Given the description of an element on the screen output the (x, y) to click on. 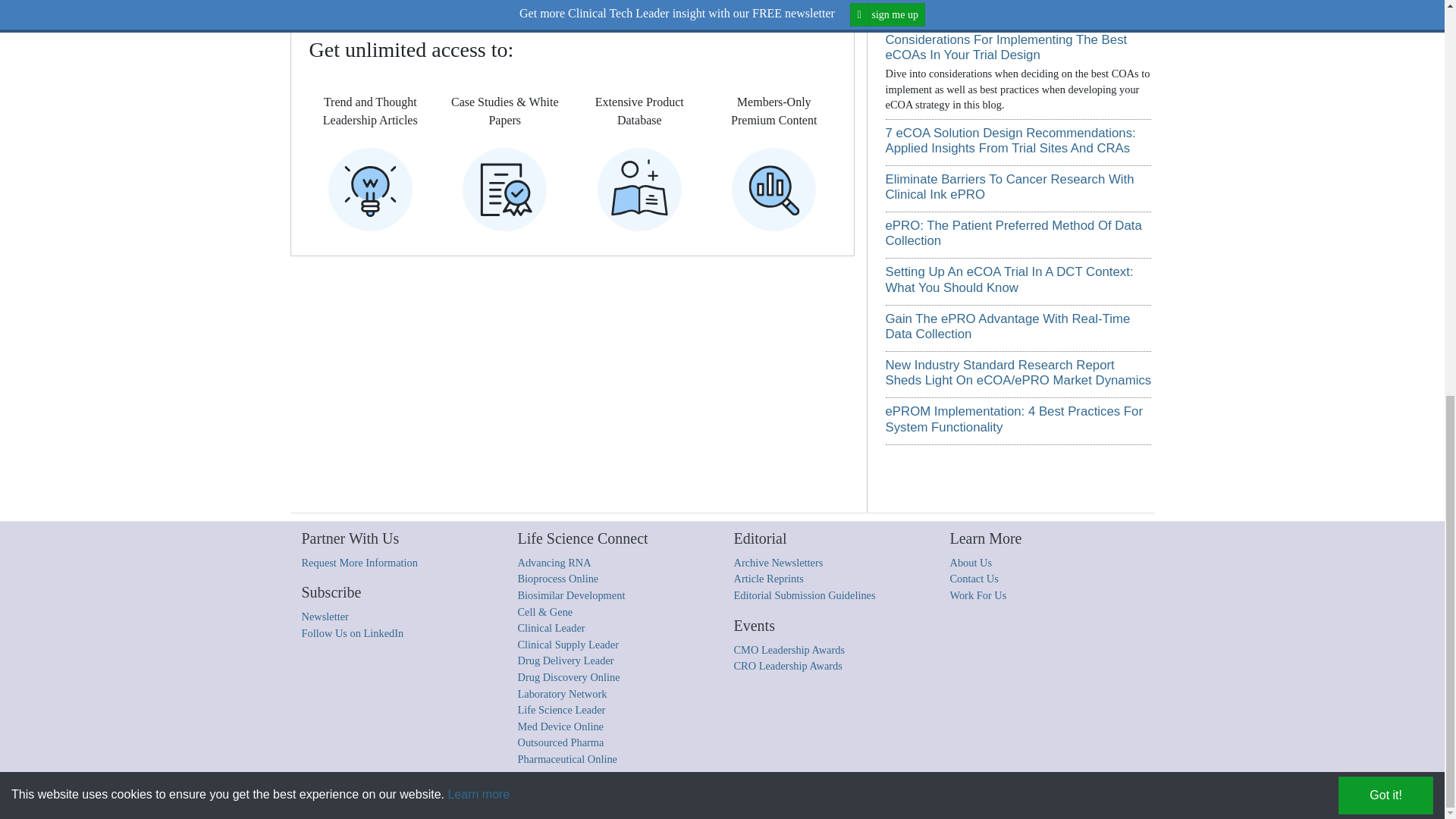
Eliminate Barriers To Cancer Research With Clinical Ink ePRO (1009, 186)
Gain The ePRO Advantage With Real-Time Data Collection (1008, 326)
ePRO: The Patient Preferred Method Of Data Collection (1013, 233)
